Given the description of an element on the screen output the (x, y) to click on. 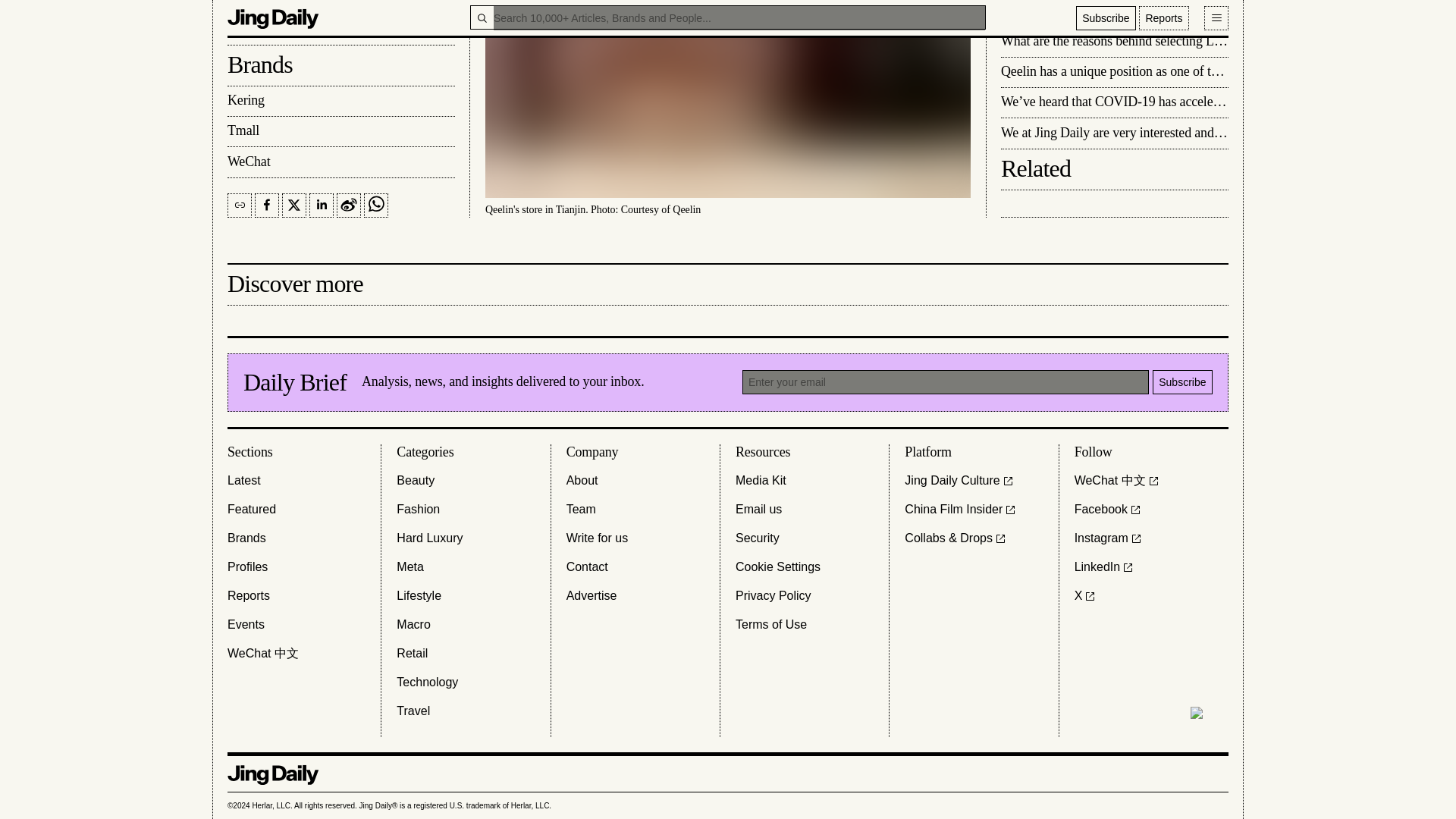
Profiles (247, 567)
Brands (246, 537)
Featured (251, 509)
Events (245, 624)
Latest (243, 480)
Subscribe (1182, 381)
Reports (248, 595)
